Given the description of an element on the screen output the (x, y) to click on. 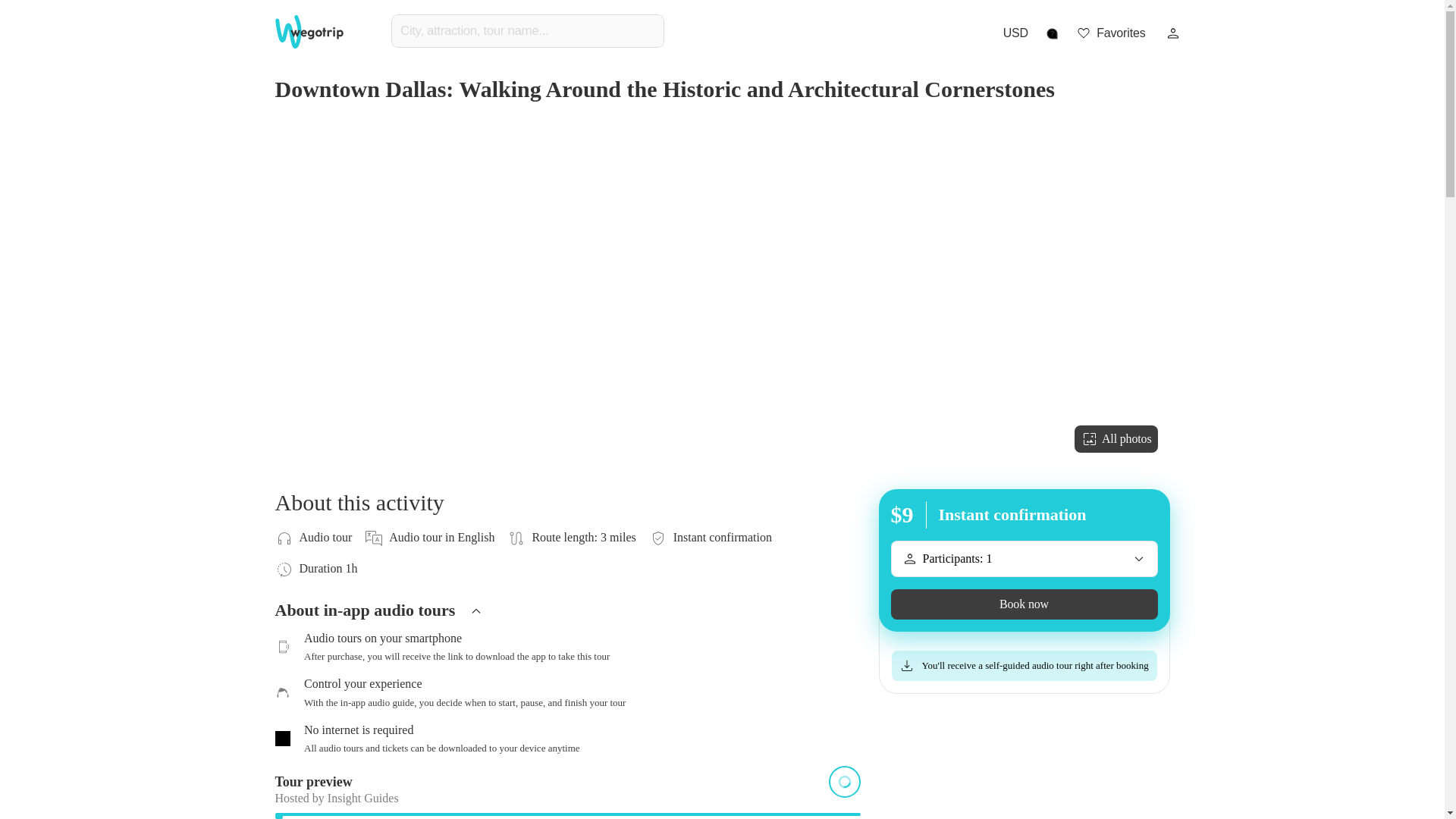
Book now (1023, 603)
USD (1015, 33)
Favorites (1110, 32)
About in-app audio tours (560, 615)
